Given the description of an element on the screen output the (x, y) to click on. 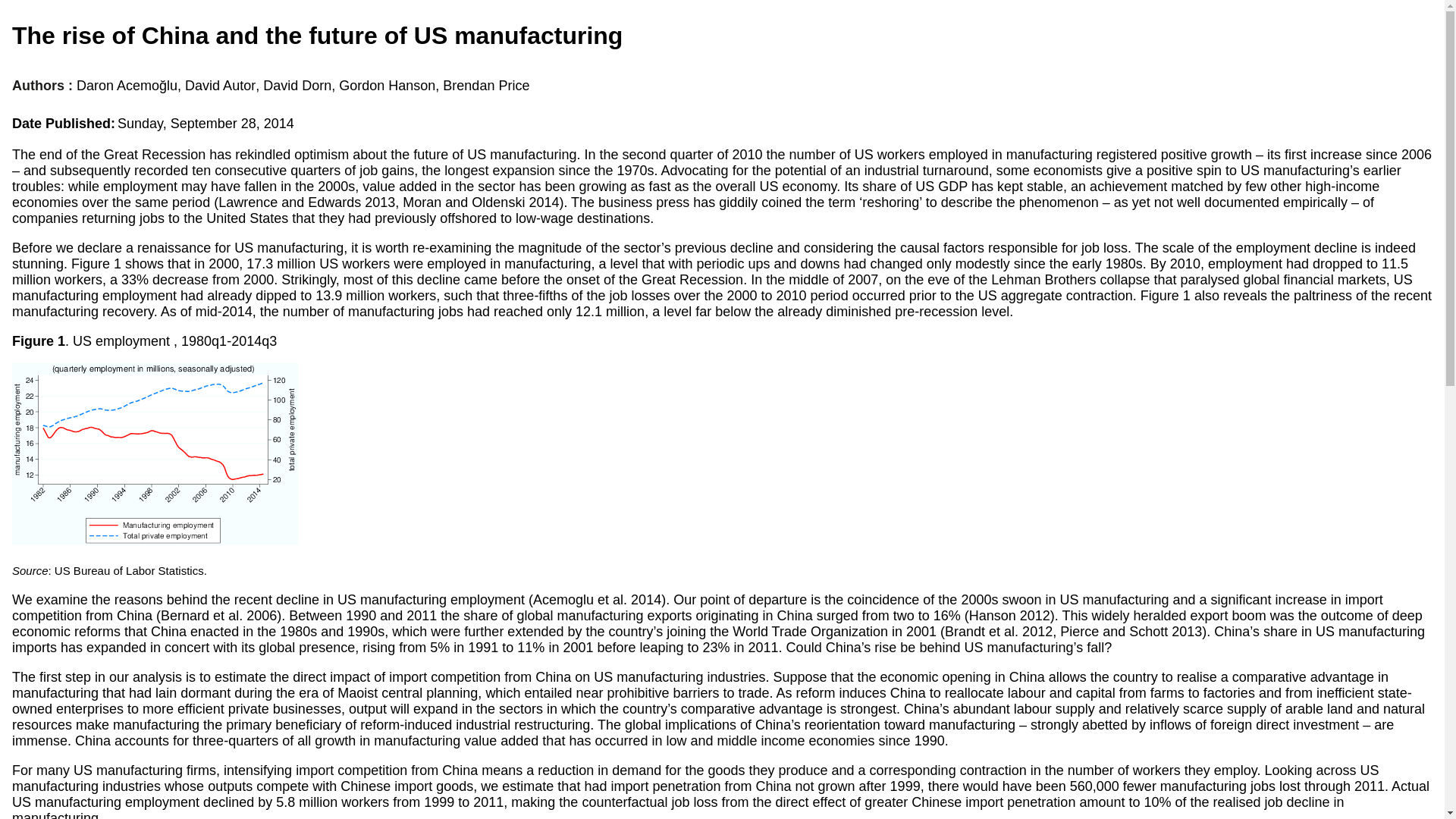
The rise of China and the future of US manufacturing (317, 35)
Gordon Hanson (387, 85)
David Dorn (297, 85)
David Autor (220, 85)
Brendan Price (485, 85)
